Given the description of an element on the screen output the (x, y) to click on. 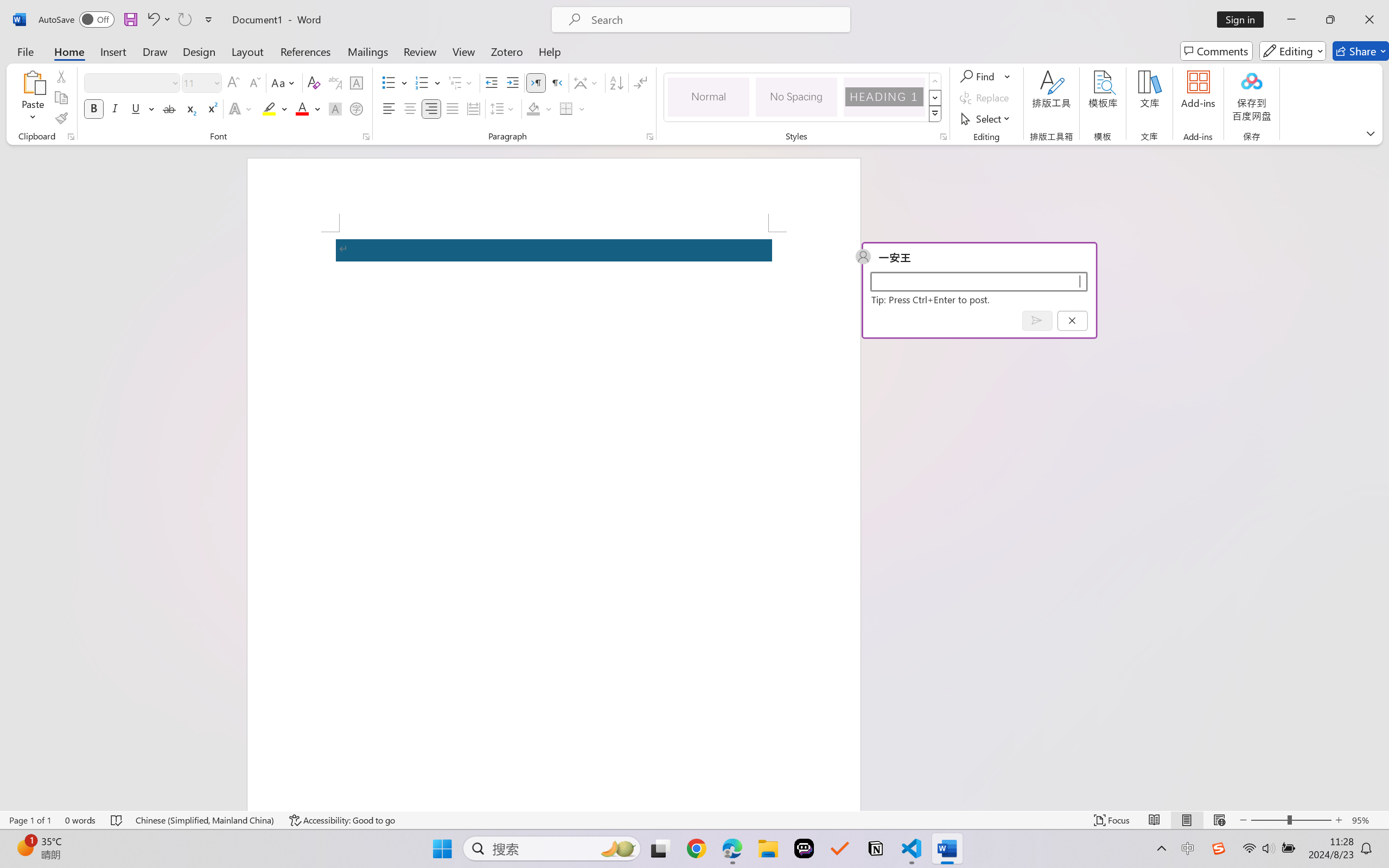
Right-to-Left (556, 82)
AutomationID: QuickStylesGallery (802, 97)
